Given the description of an element on the screen output the (x, y) to click on. 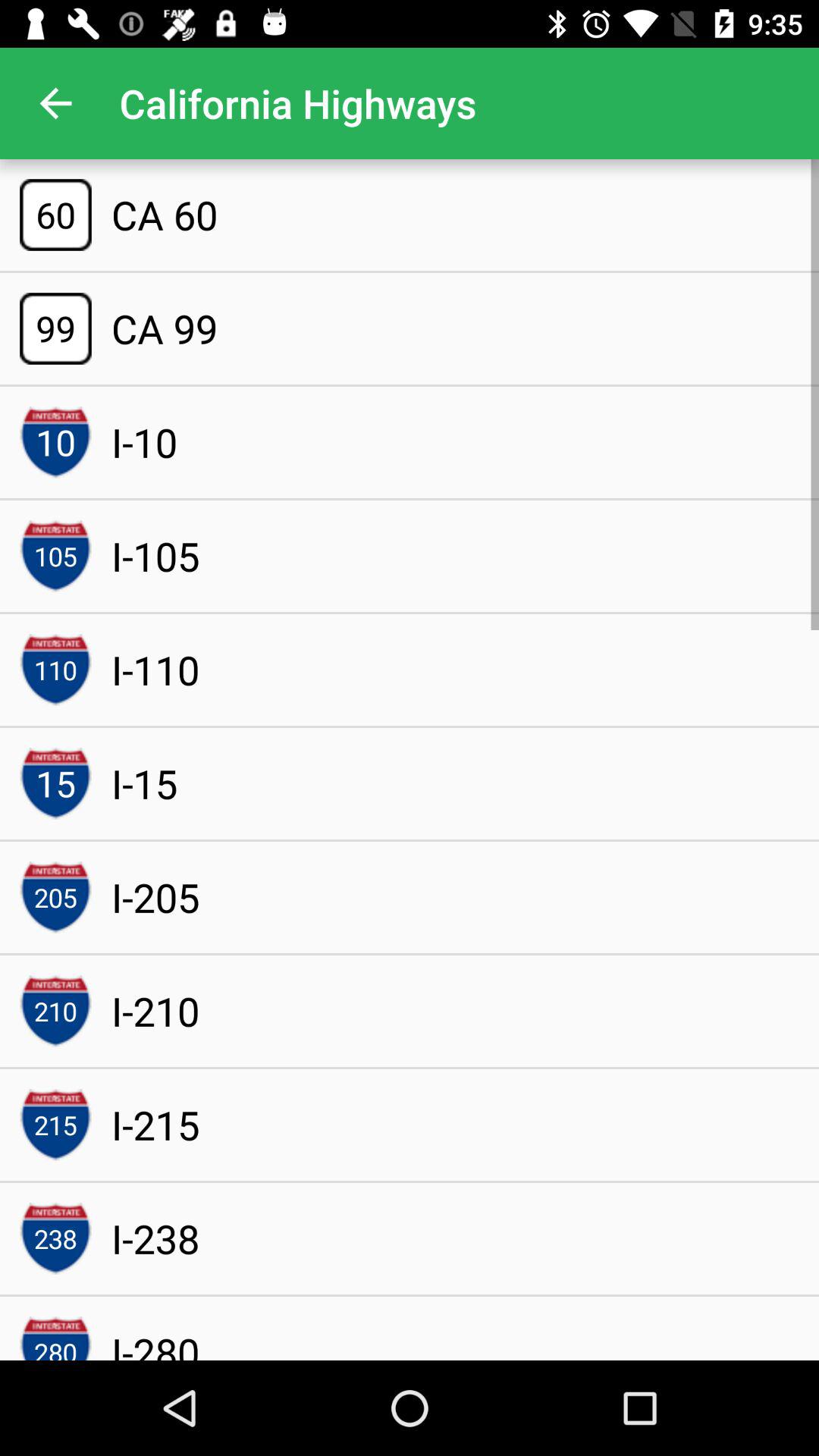
tap the icon above i-238 item (155, 1124)
